Given the description of an element on the screen output the (x, y) to click on. 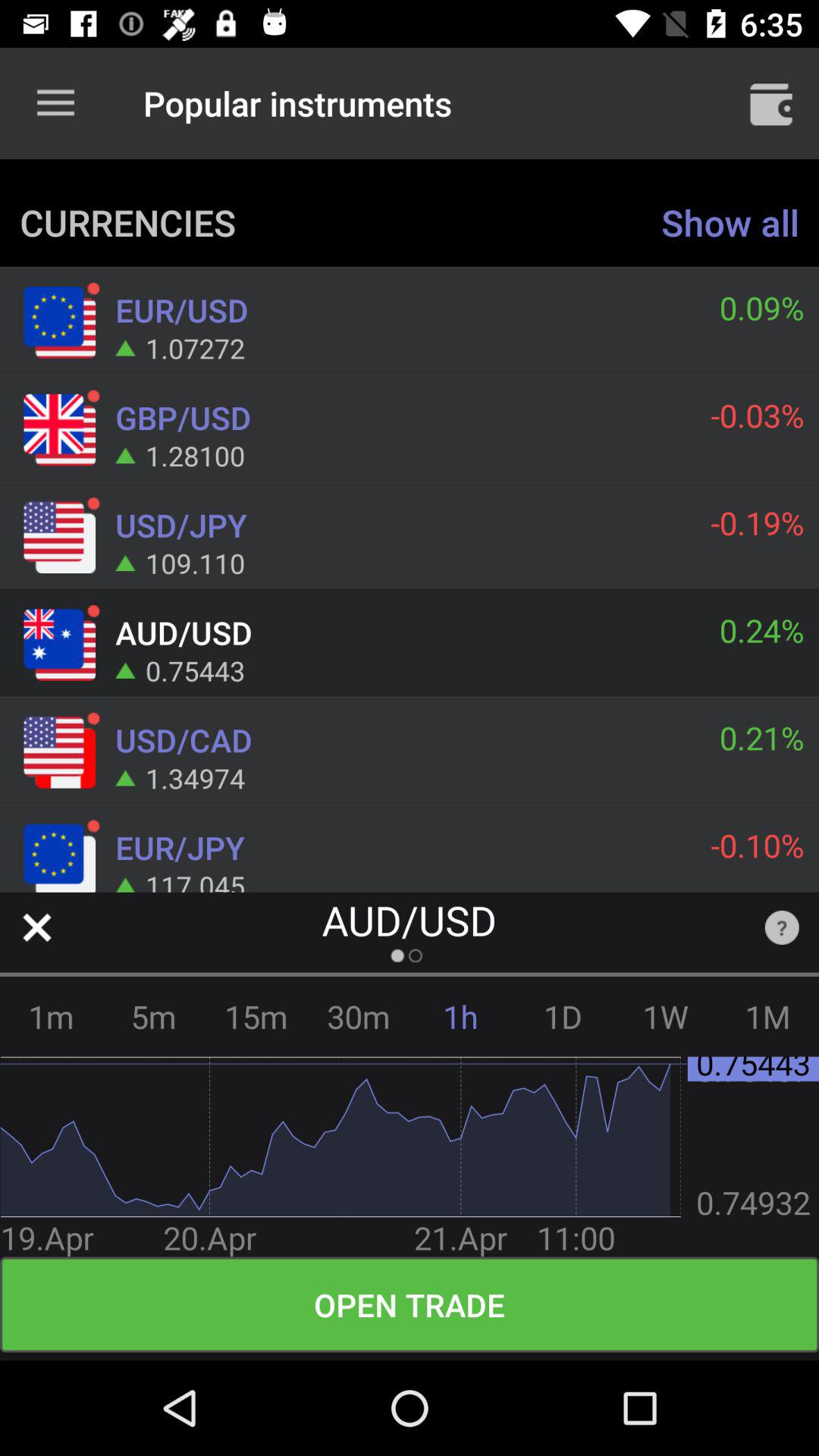
click the icon next to 1h icon (358, 1016)
